Given the description of an element on the screen output the (x, y) to click on. 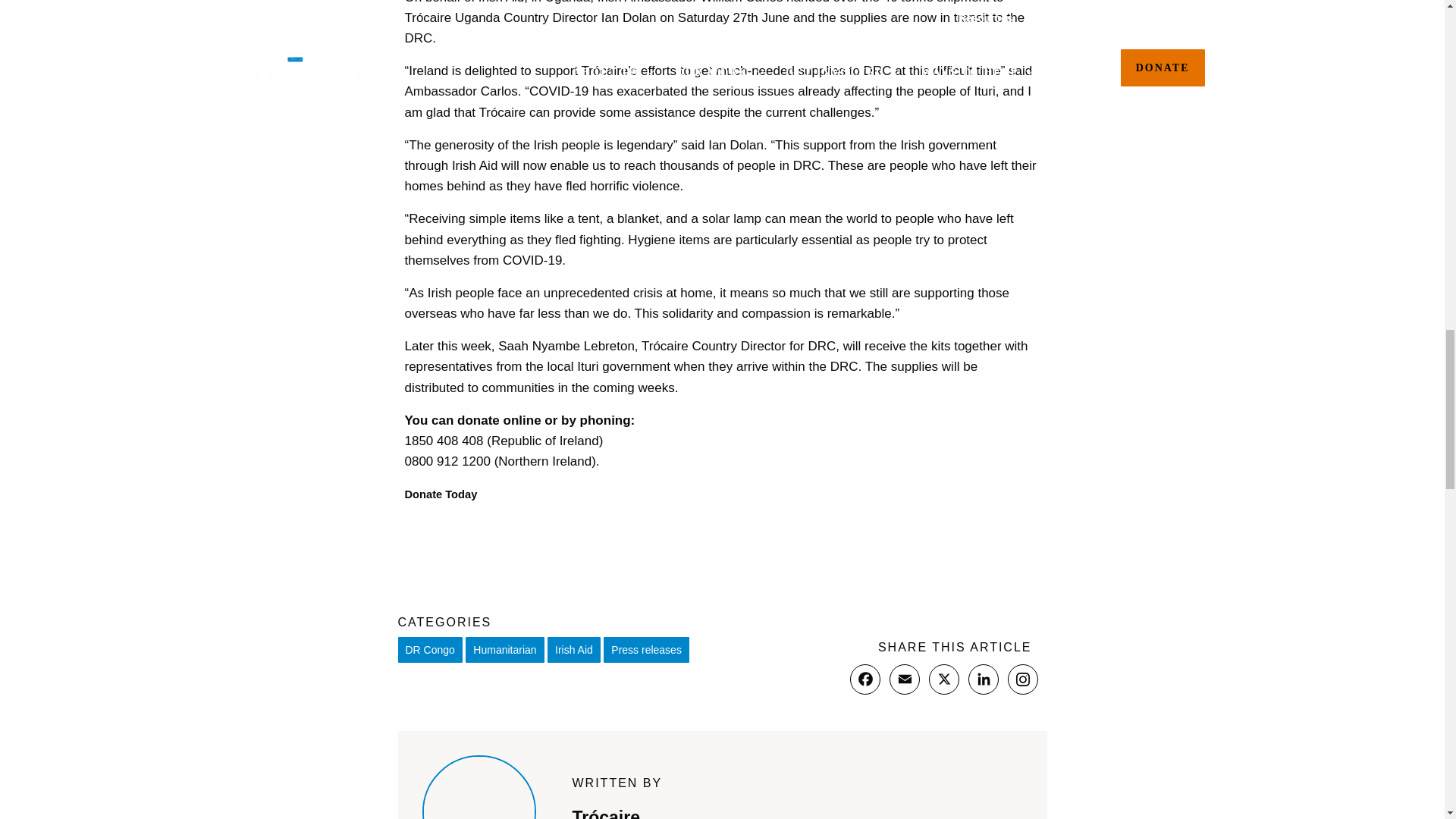
Instagram (1021, 679)
Facebook (863, 679)
LinkedIn (982, 679)
X (943, 679)
Email (903, 679)
